Given the description of an element on the screen output the (x, y) to click on. 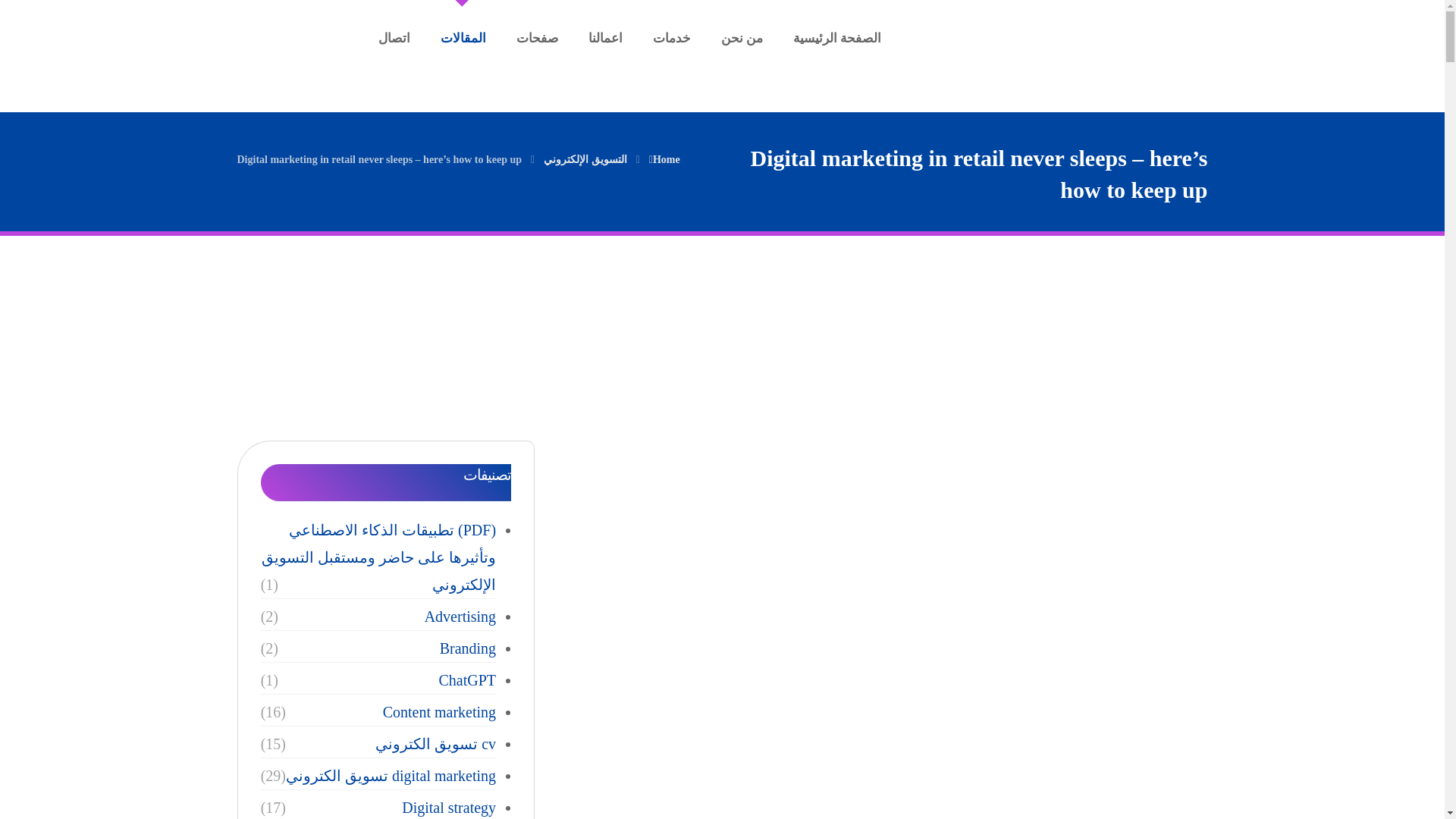
Home (664, 158)
